Given the description of an element on the screen output the (x, y) to click on. 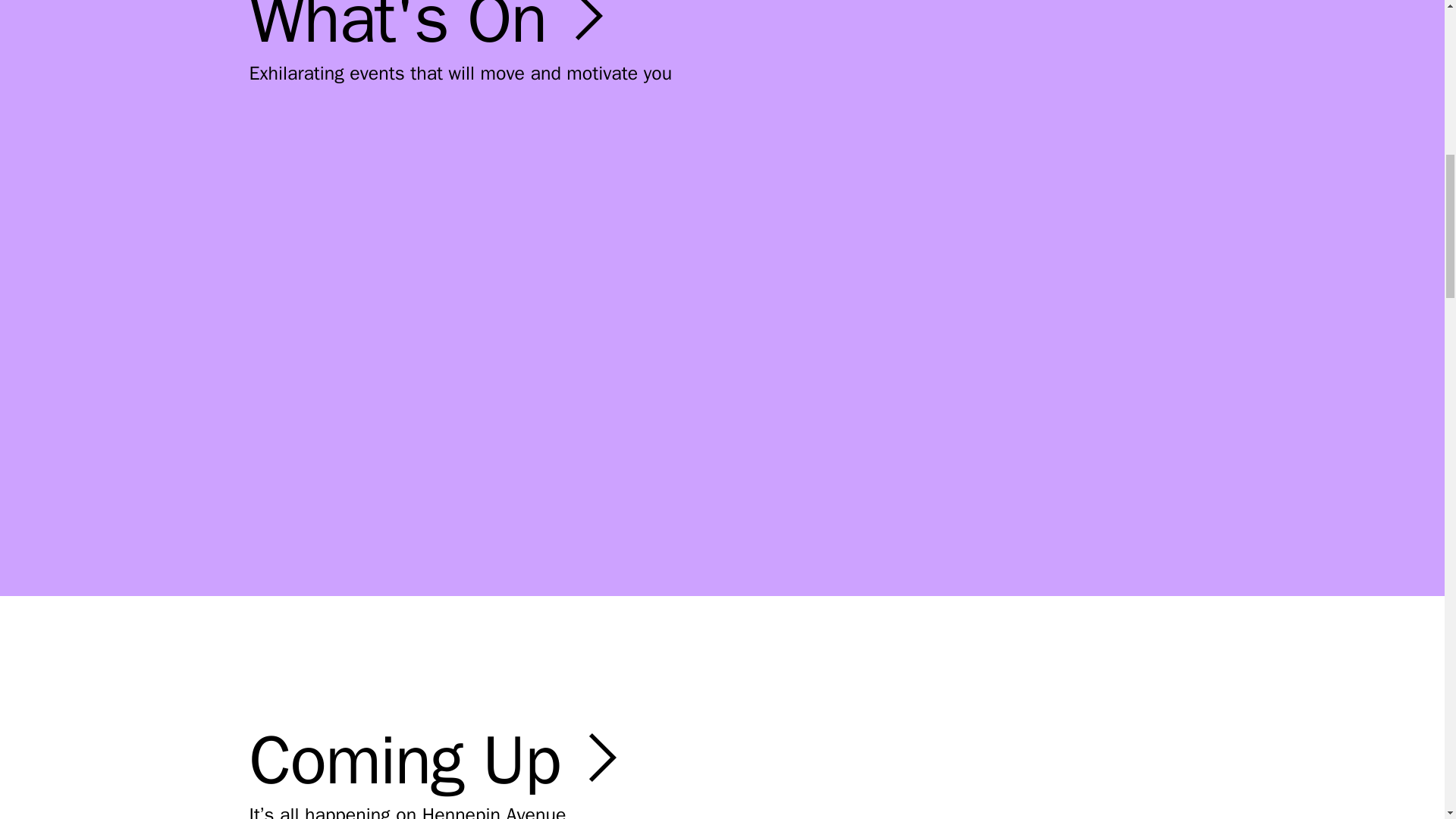
What's On (427, 31)
Coming Up (434, 760)
